Given the description of an element on the screen output the (x, y) to click on. 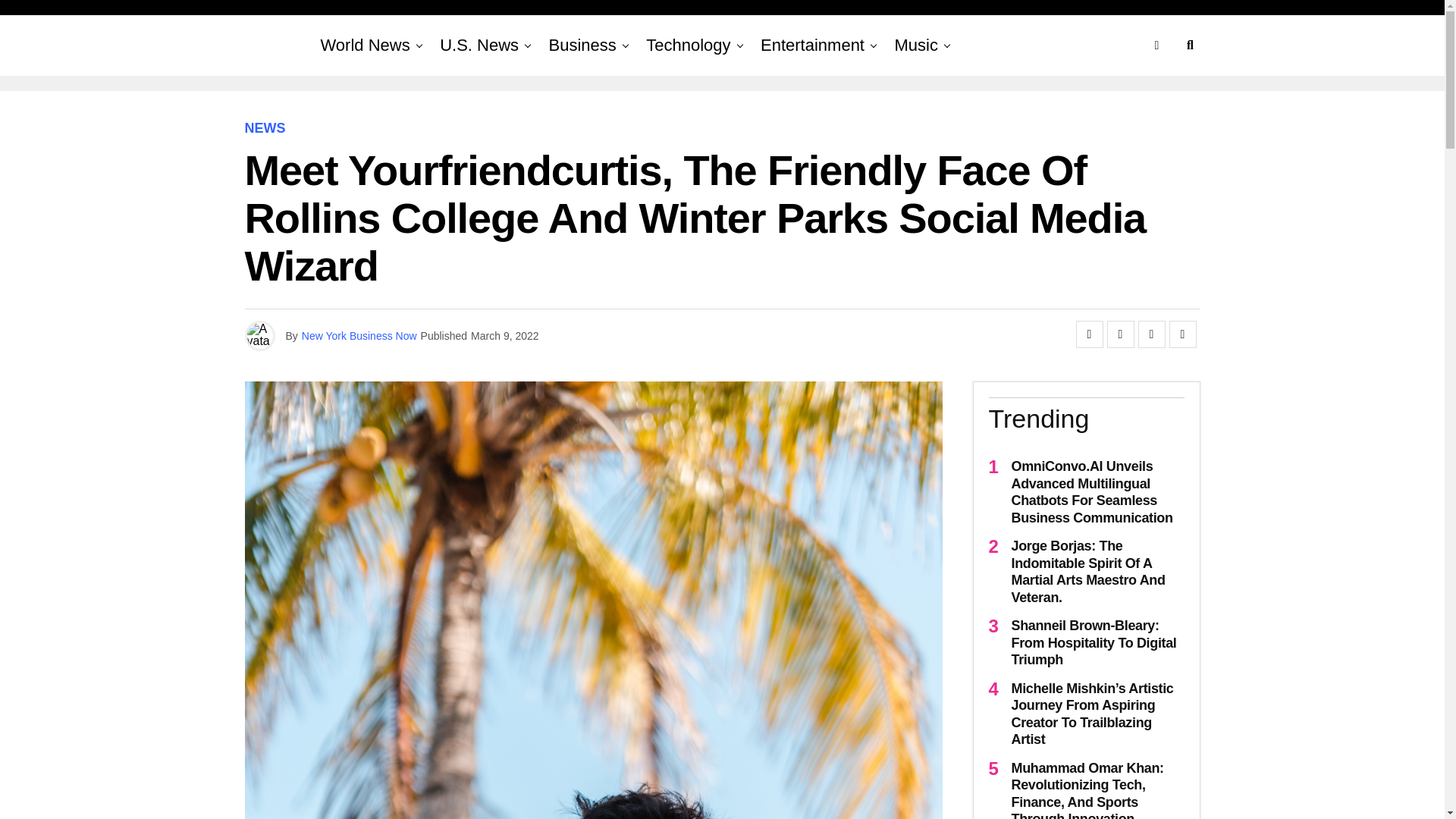
Business (582, 45)
Technology (688, 45)
Posts by New York Business Now (358, 336)
Share on Flipboard (1150, 334)
U.S. News (478, 45)
Tweet This Post (1120, 334)
Entertainment (812, 45)
World News (364, 45)
Share on Facebook (1088, 334)
